Given the description of an element on the screen output the (x, y) to click on. 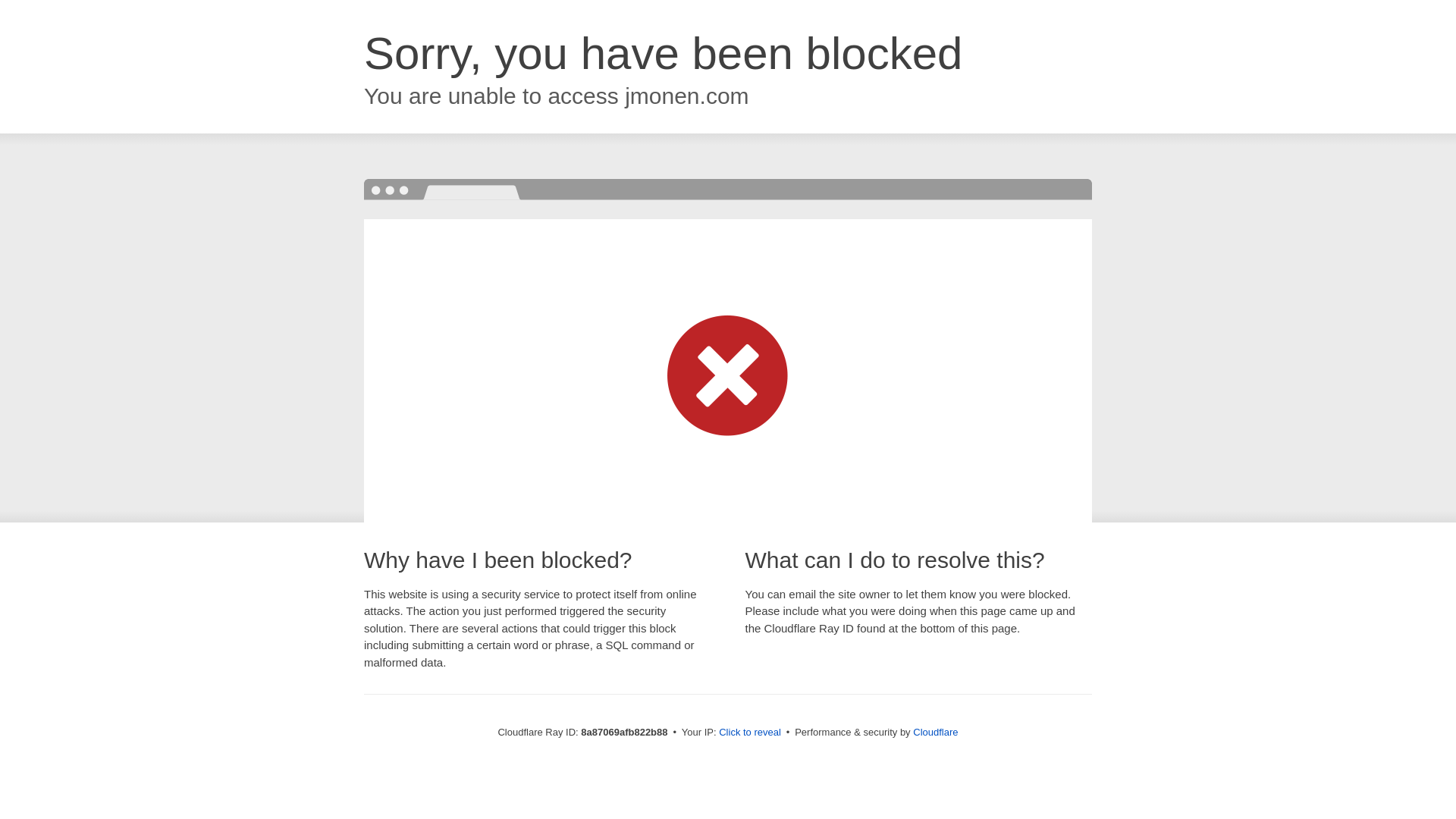
Click to reveal (749, 732)
Cloudflare (935, 731)
